Given the description of an element on the screen output the (x, y) to click on. 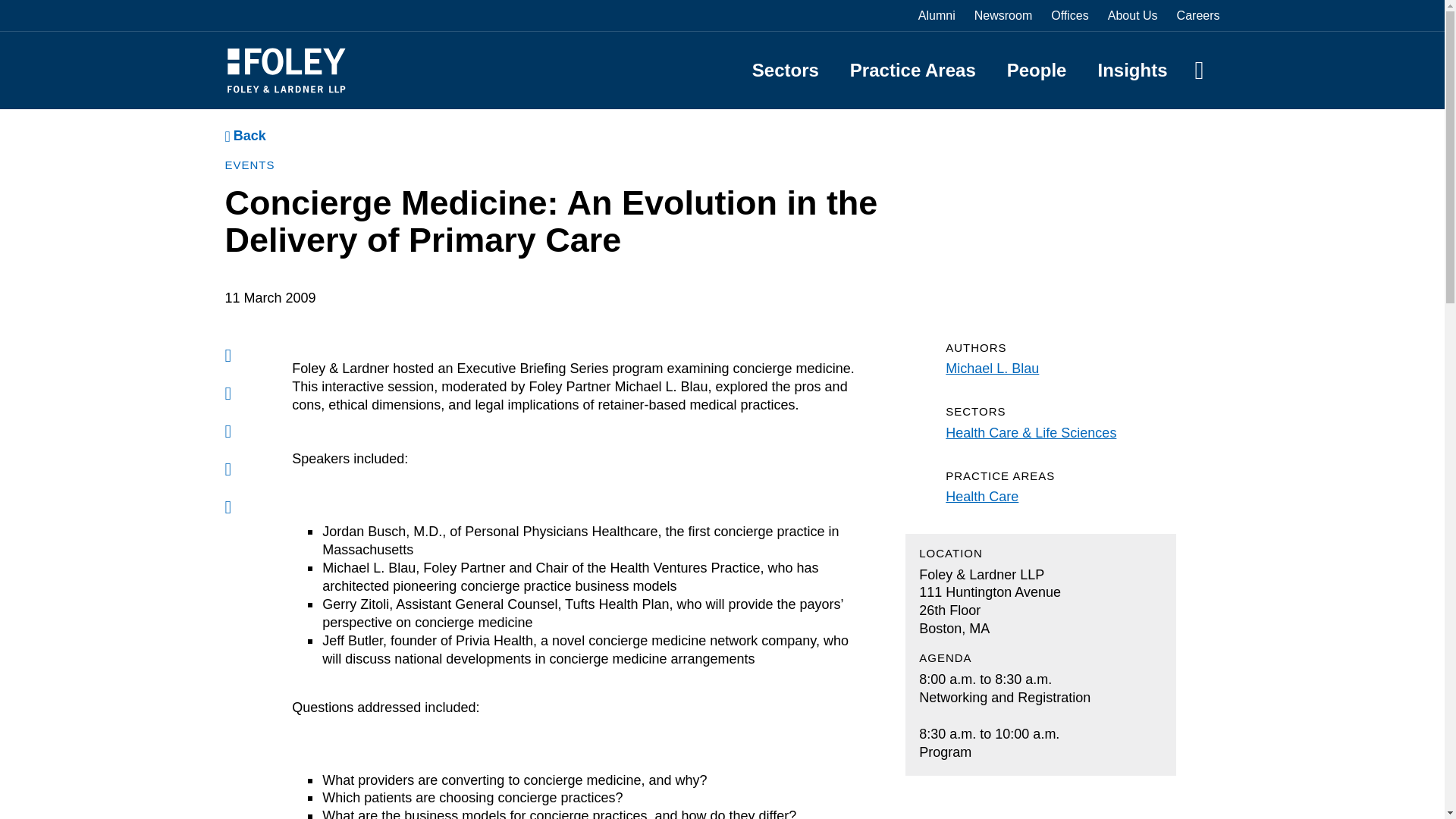
People (1037, 70)
Back (244, 136)
Careers (1198, 15)
Practice Areas (912, 70)
Sectors (785, 70)
Newsroom (1003, 15)
Offices (1070, 15)
Insights (1132, 70)
Health Care (980, 496)
